Given the description of an element on the screen output the (x, y) to click on. 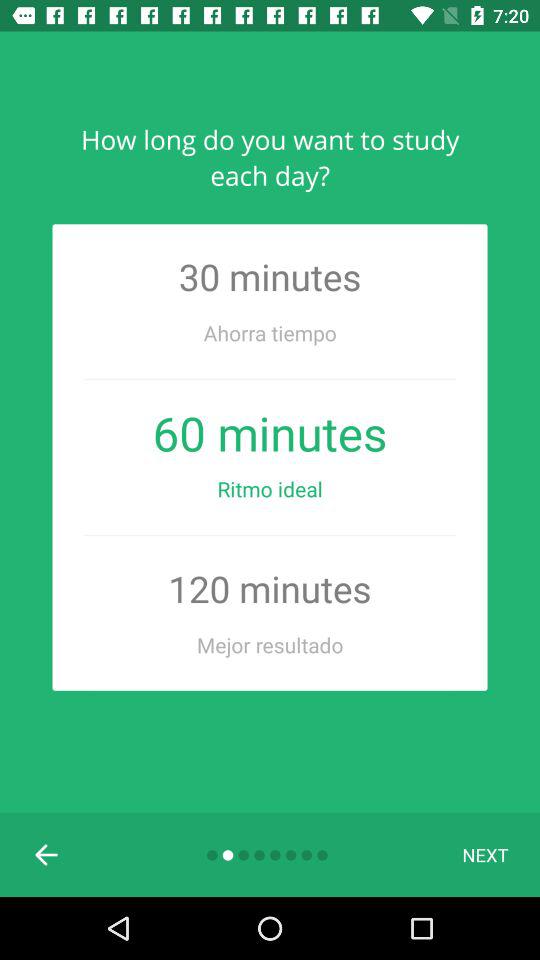
scroll to the next item (485, 854)
